Given the description of an element on the screen output the (x, y) to click on. 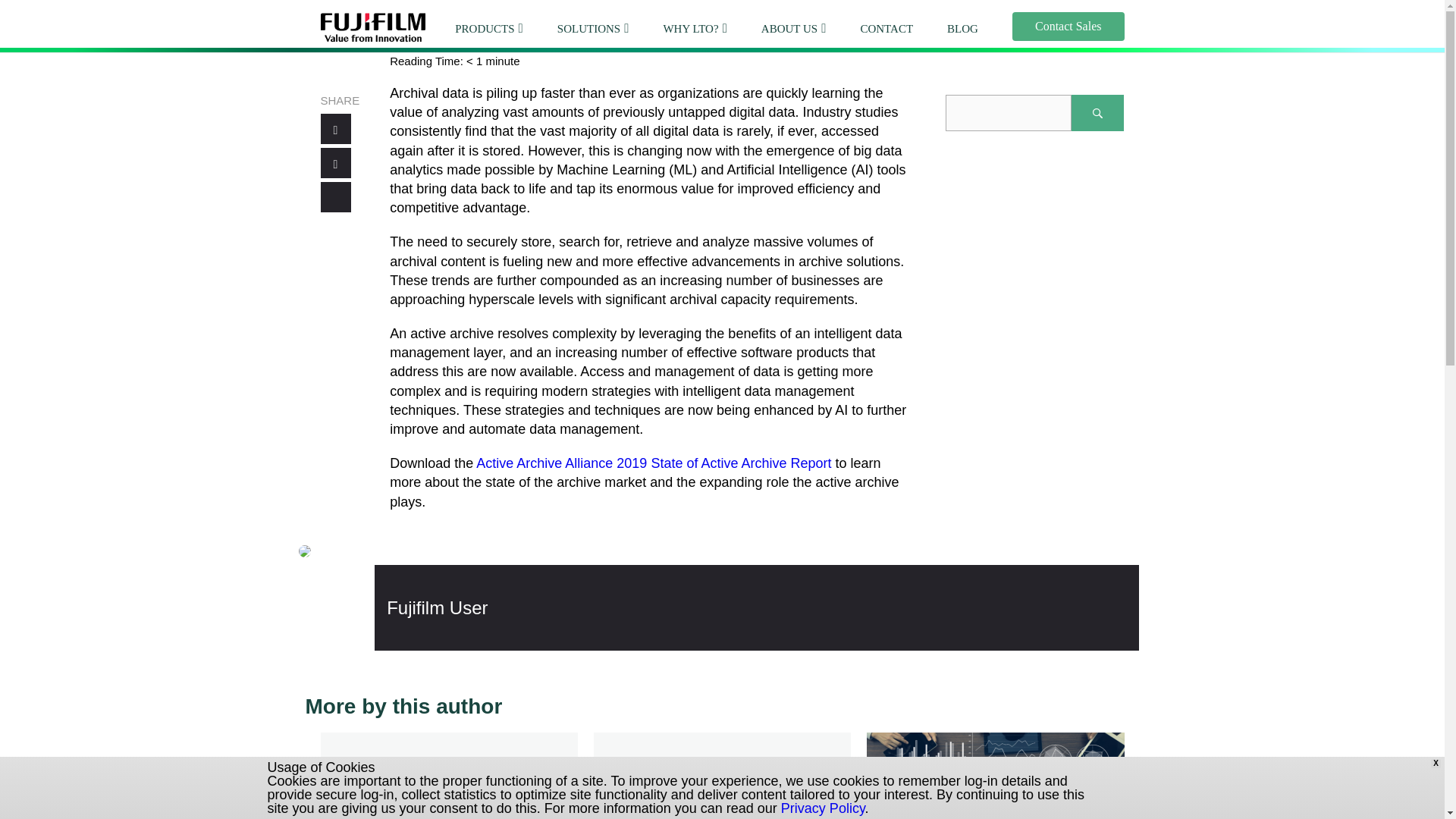
CONTACT (886, 28)
WHY LTO? (689, 28)
BLOG (962, 28)
Contact Sales (1067, 26)
Search (1097, 113)
ABOUT US (788, 28)
PRODUCTS (483, 28)
SOLUTIONS (588, 28)
